Given the description of an element on the screen output the (x, y) to click on. 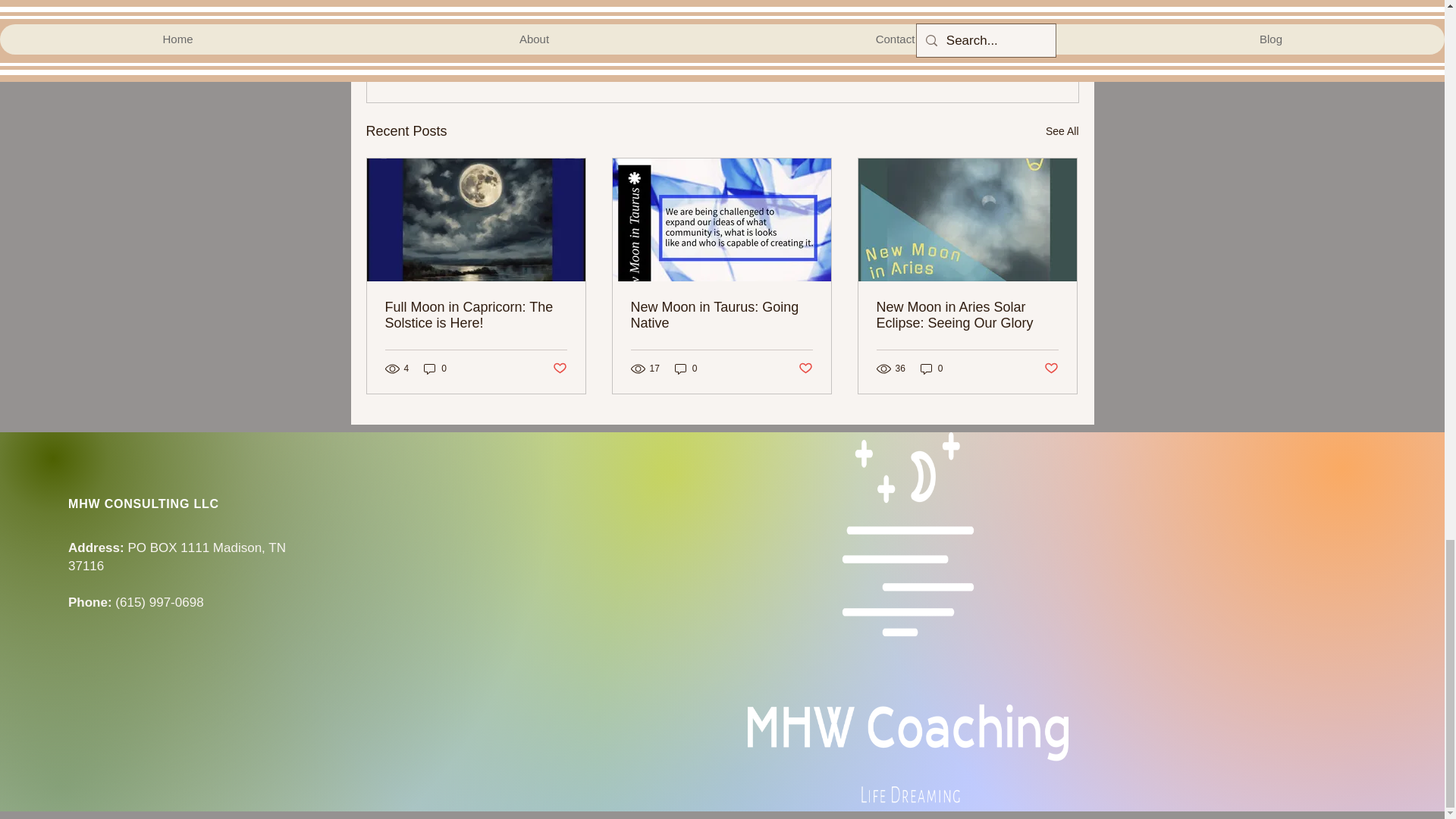
New Moon in Taurus: Going Native (721, 315)
Full Moon in Capricorn: The Solstice is Here! (476, 315)
0 (435, 368)
Post not marked as liked (804, 368)
0 (685, 368)
New Moon in Aries Solar Eclipse: Seeing Our Glory (967, 315)
Post not marked as liked (995, 48)
See All (1061, 131)
Post not marked as liked (558, 368)
0 (931, 368)
White on Transparent.png (908, 619)
Post not marked as liked (1050, 368)
Lunation Readings (958, 4)
